Given the description of an element on the screen output the (x, y) to click on. 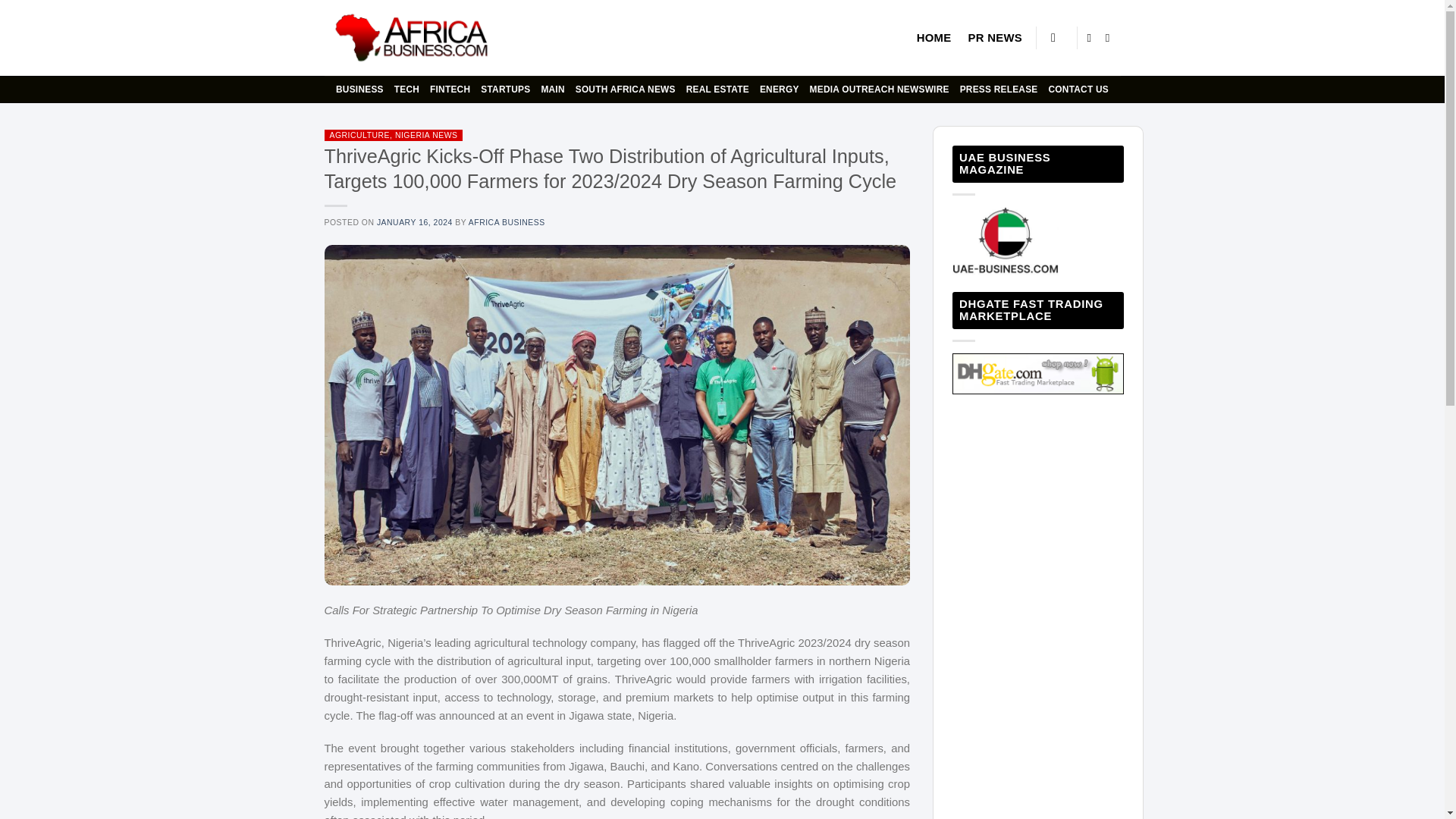
HOME (934, 37)
SOUTH AFRICA NEWS (625, 89)
CONTACT US (1078, 89)
UAE Business Magazine (1038, 372)
AGRICULTURE (359, 135)
BUSINESS (360, 89)
ENERGY (779, 89)
FINTECH (449, 89)
NIGERIA NEWS (426, 135)
AfricaBusiness.com - Africa Business (412, 38)
